Given the description of an element on the screen output the (x, y) to click on. 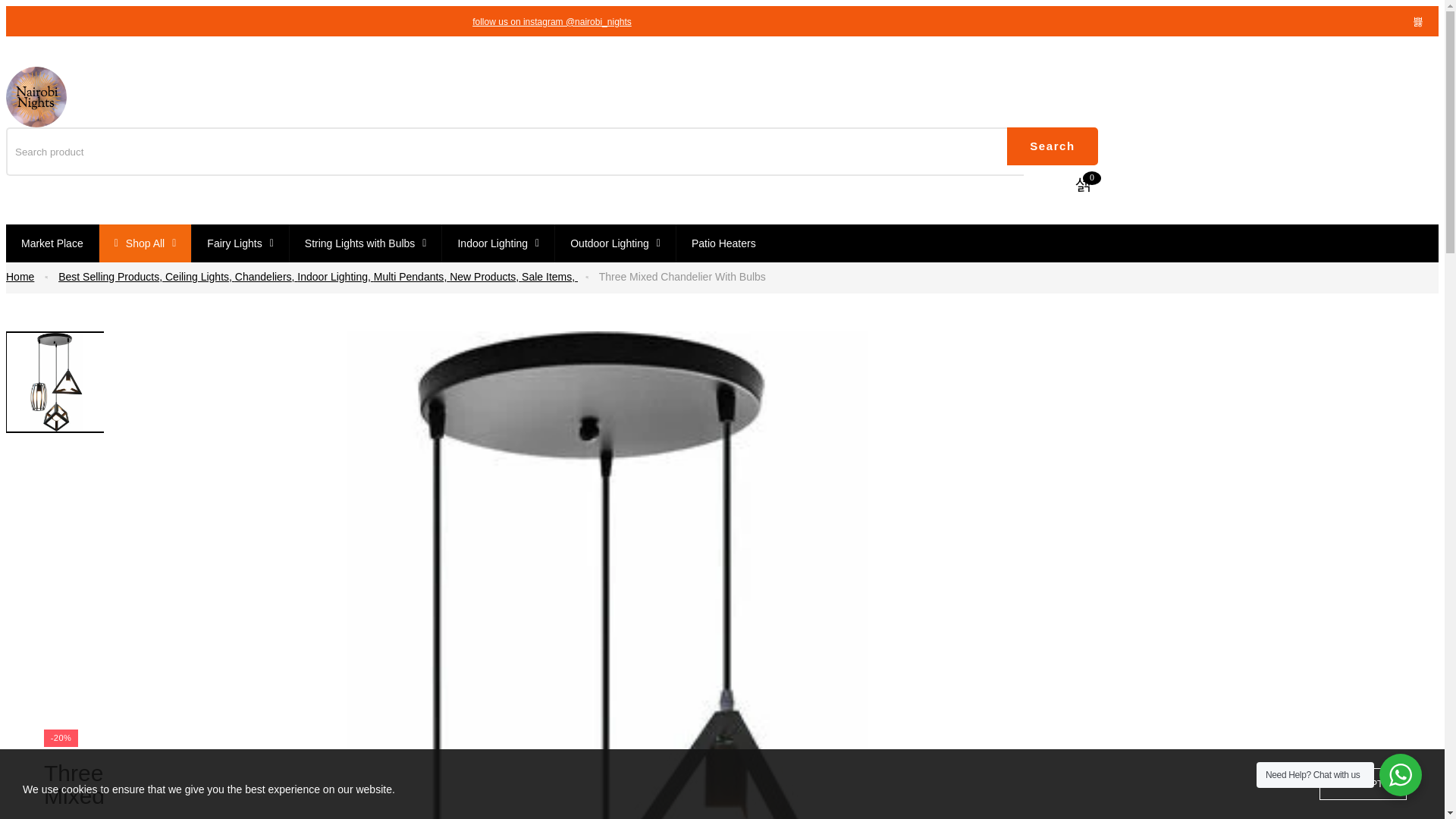
Market Place (52, 243)
Shop All (145, 243)
Shop All (145, 243)
Market Place (52, 243)
Search (1052, 146)
0 (1083, 184)
